Given the description of an element on the screen output the (x, y) to click on. 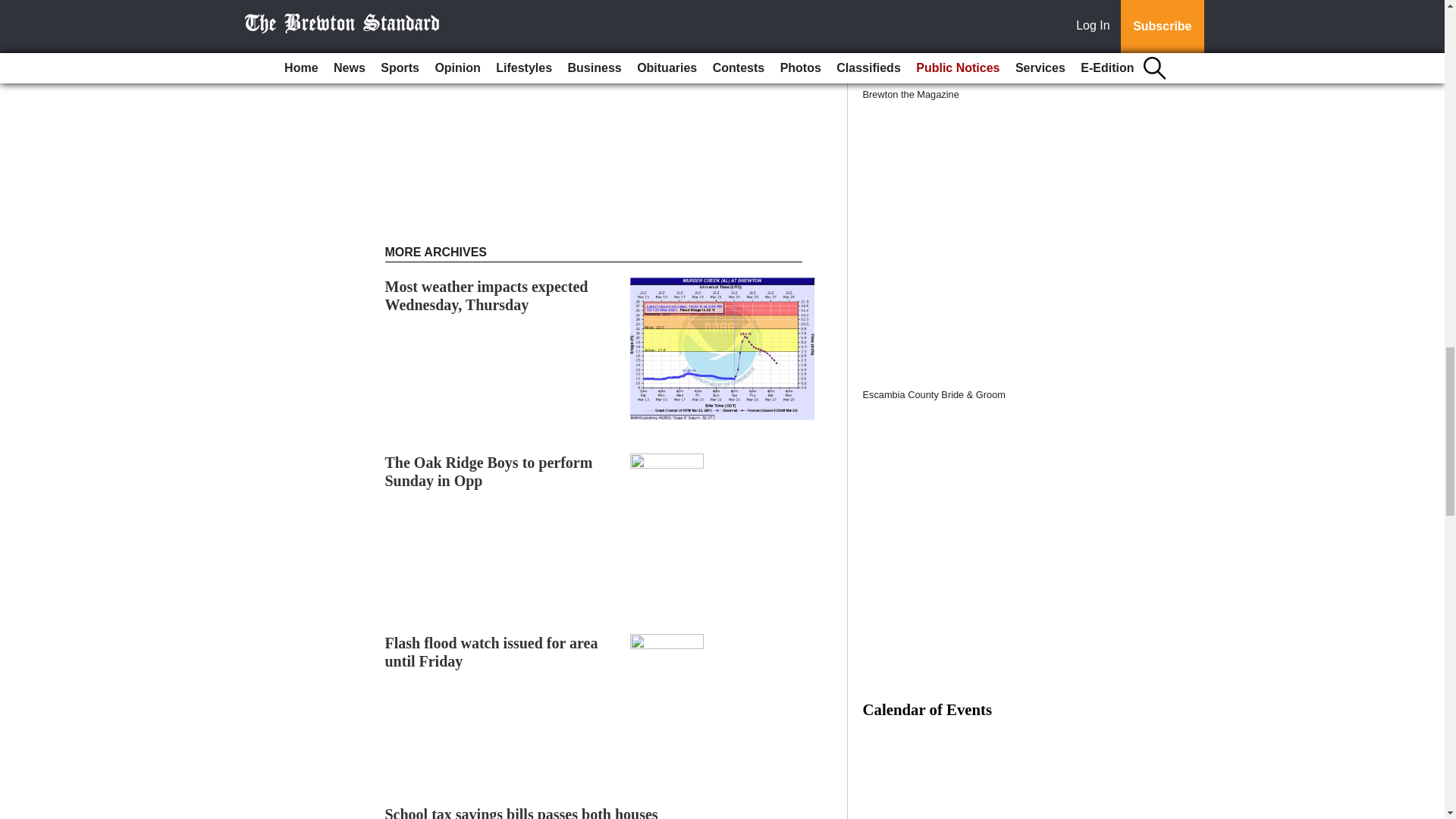
Flash flood watch issued for area until Friday (491, 651)
School tax savings bills passes both houses (521, 812)
Most weather impacts expected Wednesday, Thursday (486, 295)
Most weather impacts expected Wednesday, Thursday (486, 295)
The Oak Ridge Boys to perform Sunday in Opp (488, 471)
Flash flood watch issued for area until Friday (491, 651)
School tax savings bills passes both houses (521, 812)
The Oak Ridge Boys to perform Sunday in Opp (488, 471)
